Given the description of an element on the screen output the (x, y) to click on. 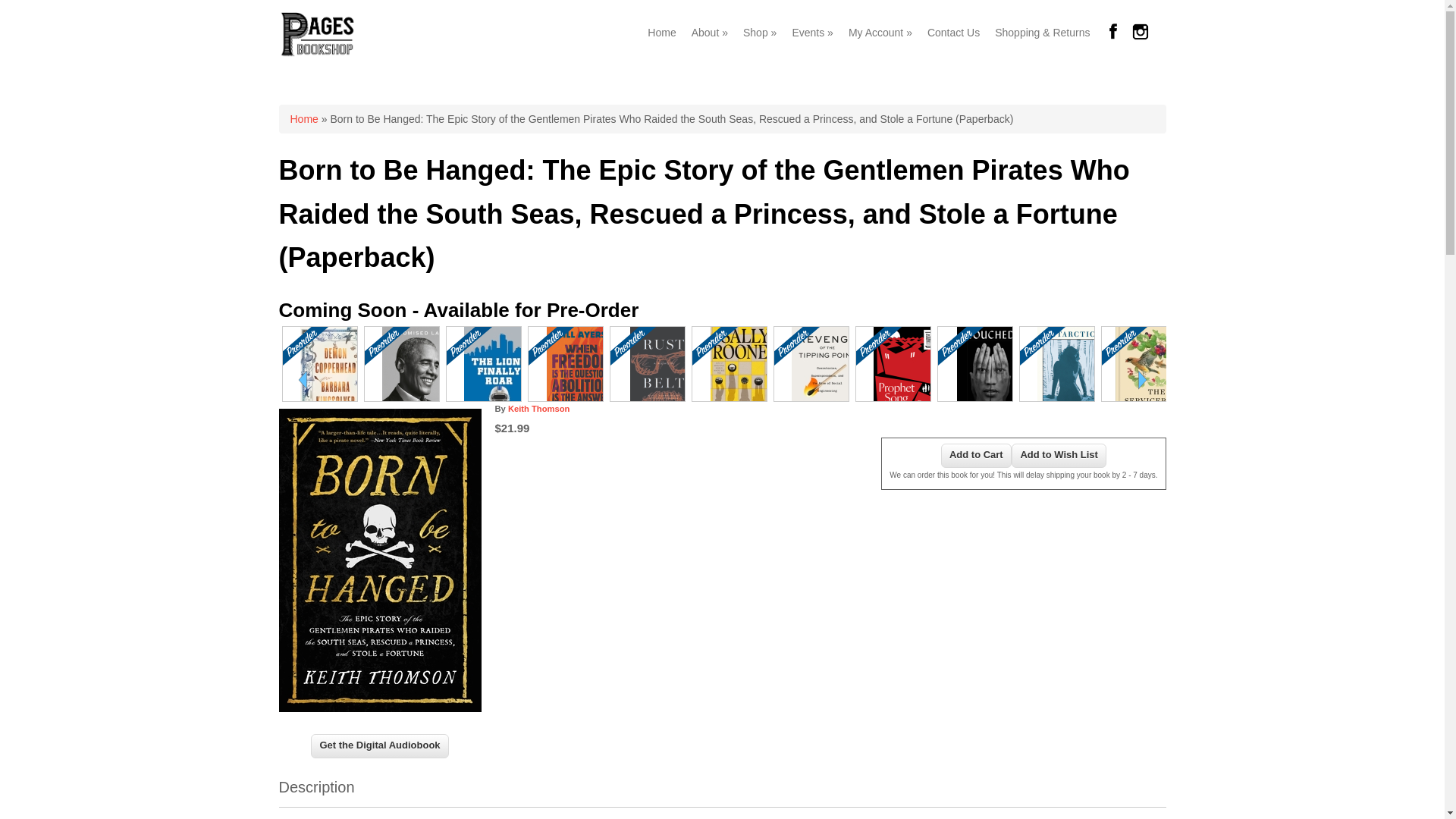
Home (303, 119)
Home (661, 32)
Add to Cart (975, 455)
Home (317, 53)
Book Lists (759, 32)
Calendar of Upcoming Events (812, 32)
Get the Digital Audiobook (379, 745)
Add to Wish List (1058, 455)
Contact Us (953, 32)
